Given the description of an element on the screen output the (x, y) to click on. 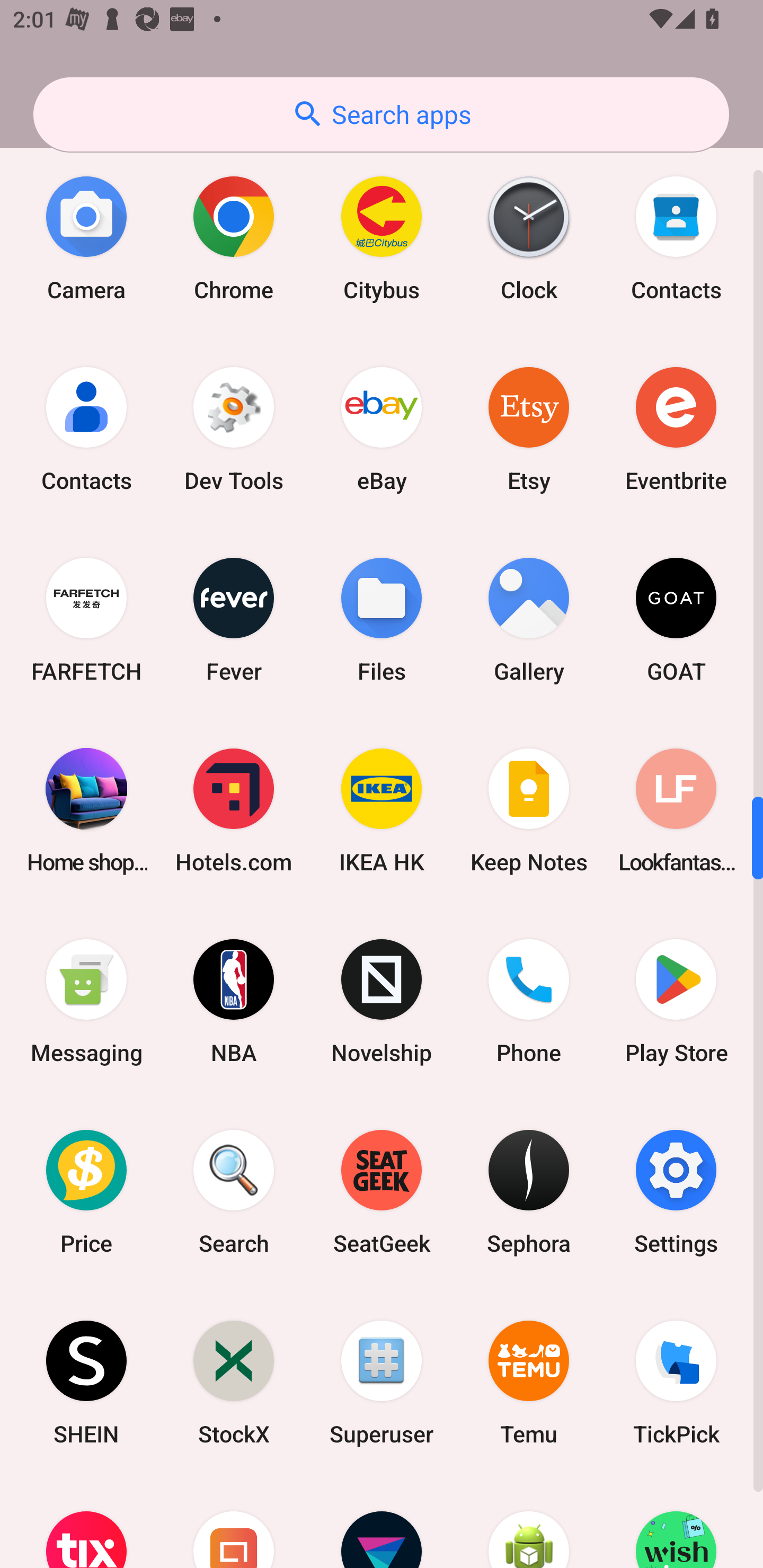
  Search apps (381, 114)
Camera (86, 237)
Chrome (233, 237)
Citybus (381, 237)
Clock (528, 237)
Contacts (676, 237)
Contacts (86, 428)
Dev Tools (233, 428)
eBay (381, 428)
Etsy (528, 428)
Eventbrite (676, 428)
FARFETCH (86, 619)
Fever (233, 619)
Files (381, 619)
Gallery (528, 619)
GOAT (676, 619)
Home shopping (86, 810)
Hotels.com (233, 810)
IKEA HK (381, 810)
Keep Notes (528, 810)
Lookfantastic (676, 810)
Messaging (86, 1001)
NBA (233, 1001)
Novelship (381, 1001)
Phone (528, 1001)
Play Store (676, 1001)
Price (86, 1191)
Search (233, 1191)
SeatGeek (381, 1191)
Sephora (528, 1191)
Settings (676, 1191)
SHEIN (86, 1382)
StockX (233, 1382)
Superuser (381, 1382)
Temu (528, 1382)
TickPick (676, 1382)
